Given the description of an element on the screen output the (x, y) to click on. 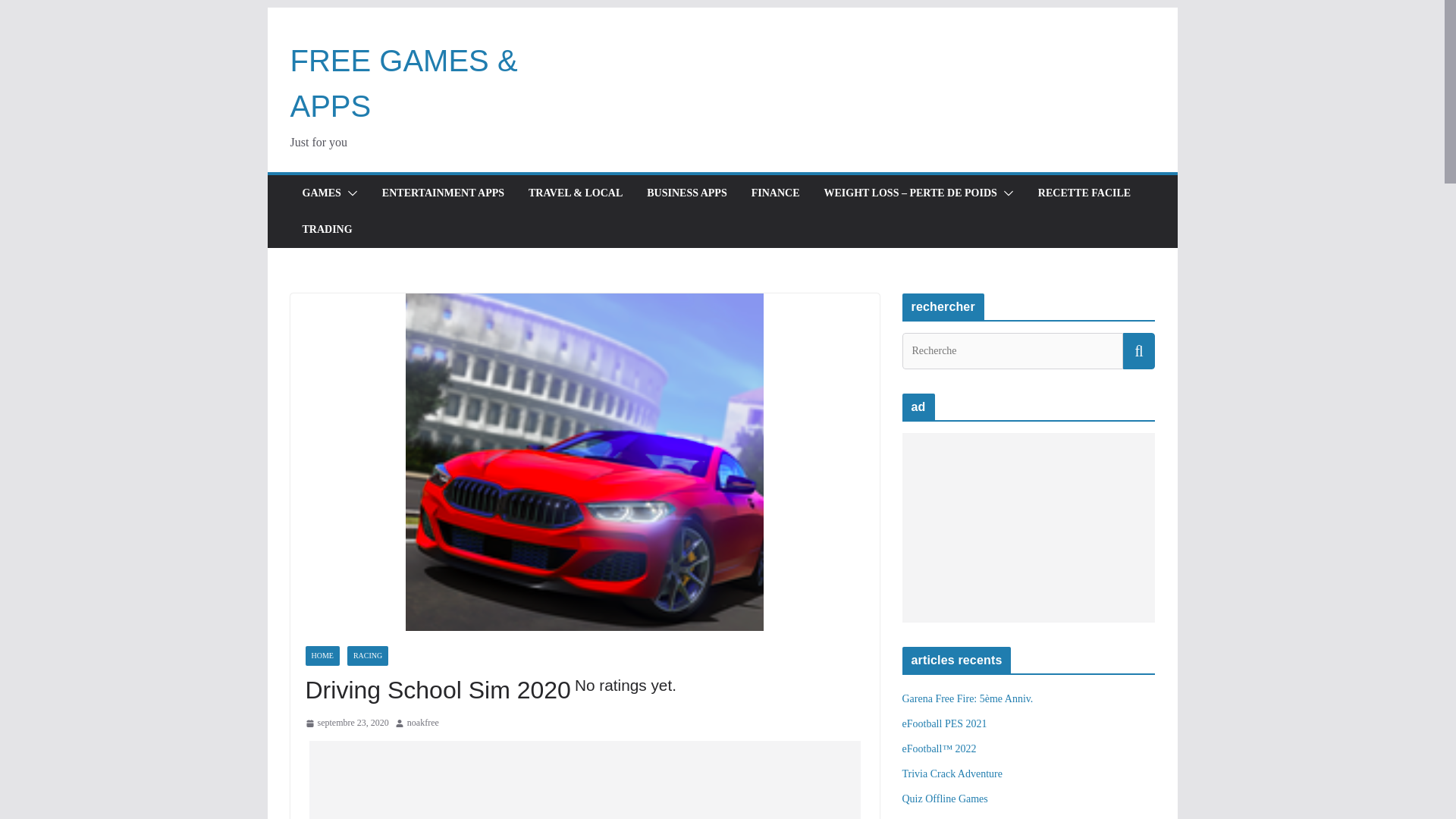
BUSINESS APPS (686, 192)
FINANCE (775, 192)
septembre 23, 2020 (346, 723)
Advertisement (1028, 527)
Advertisement (584, 780)
noakfree (423, 723)
GAMES (320, 192)
ENTERTAINMENT APPS (442, 192)
TRADING (326, 229)
noakfree (423, 723)
HOME (321, 655)
RACING (367, 655)
RECETTE FACILE (1084, 192)
6:40 am (346, 723)
